Given the description of an element on the screen output the (x, y) to click on. 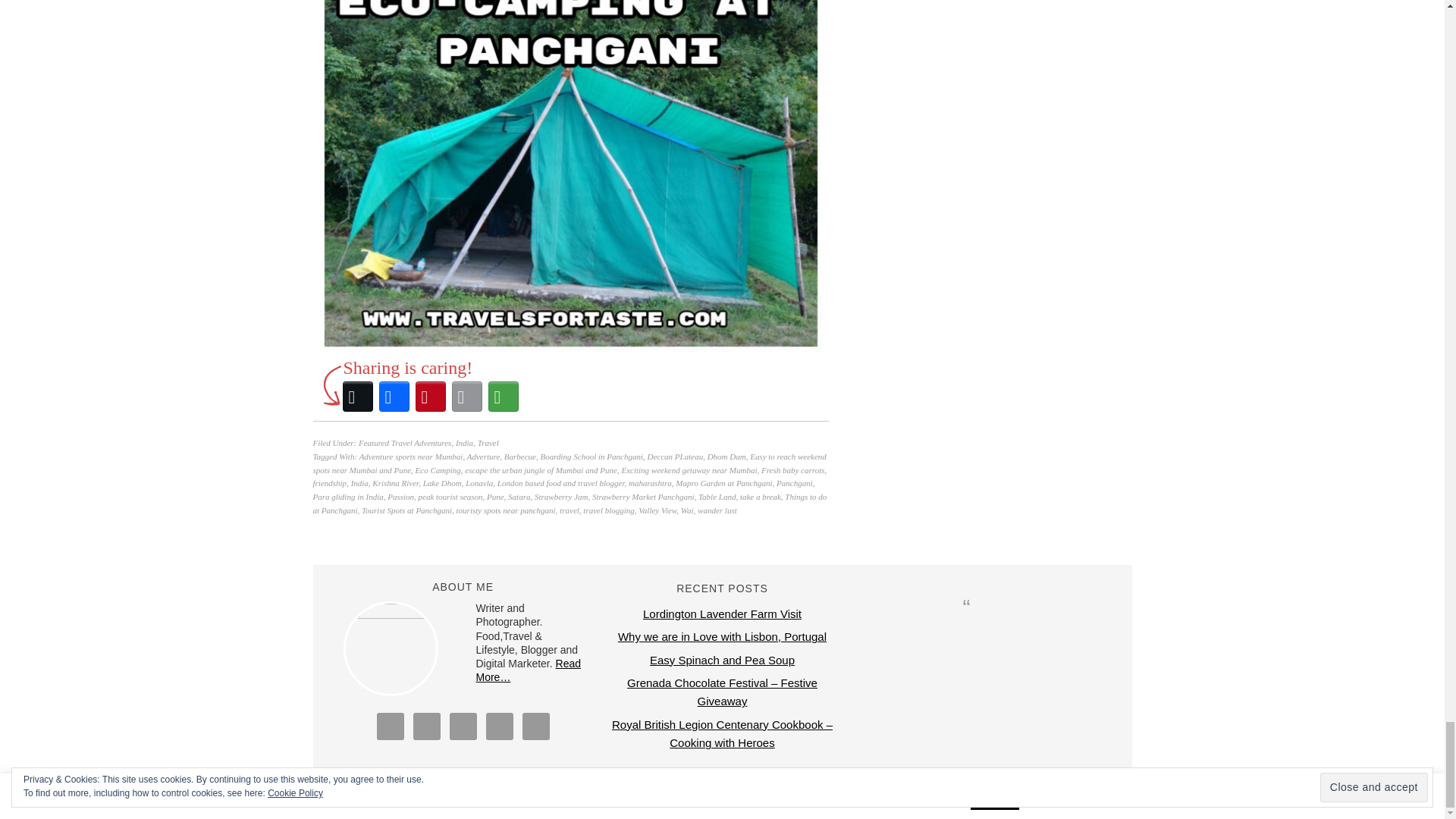
Email This (466, 396)
Facebook (393, 396)
More Options (502, 396)
Pinterest (430, 396)
